Given the description of an element on the screen output the (x, y) to click on. 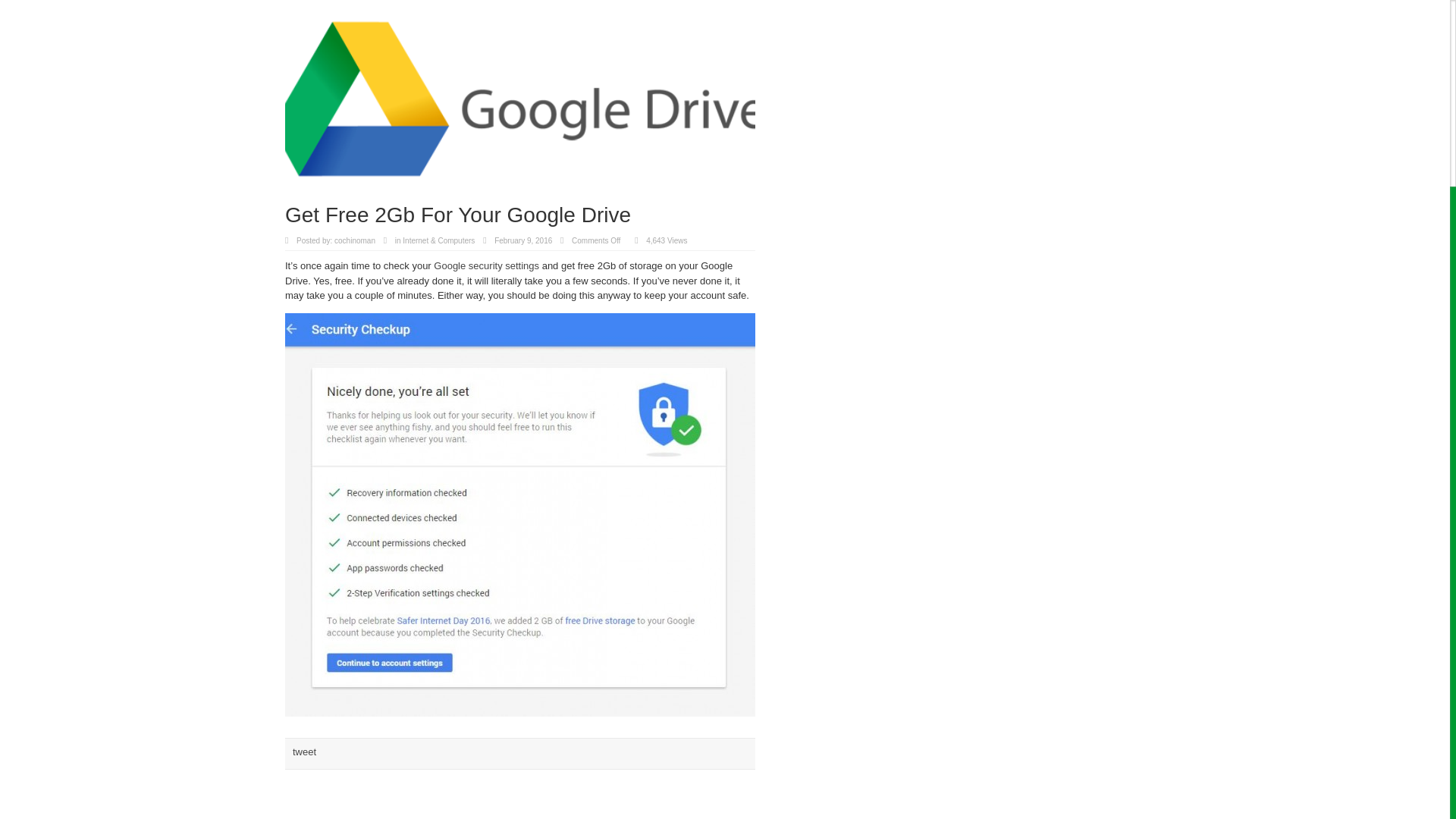
tweet (303, 751)
Google security settings (485, 265)
cochinoman (354, 240)
